Given the description of an element on the screen output the (x, y) to click on. 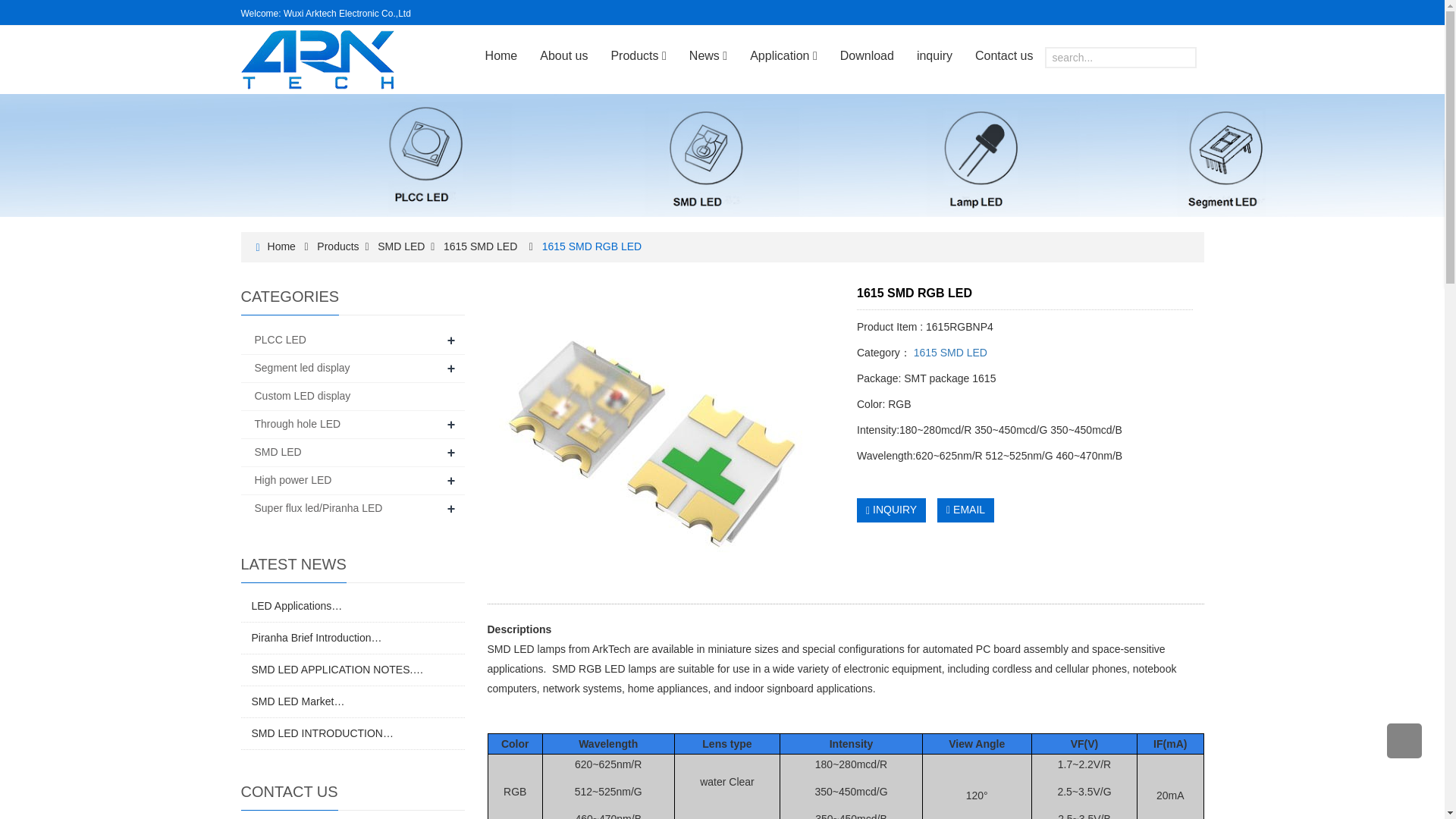
Home (501, 55)
1615 SMD LED (480, 246)
SMD LED INTRODUCTION (322, 733)
Products (637, 55)
SMD LED APPLICATION NOTES. (337, 669)
Products (337, 246)
 SMD LED Market (298, 701)
search... (1120, 56)
search... (1120, 56)
About us (563, 55)
